Given the description of an element on the screen output the (x, y) to click on. 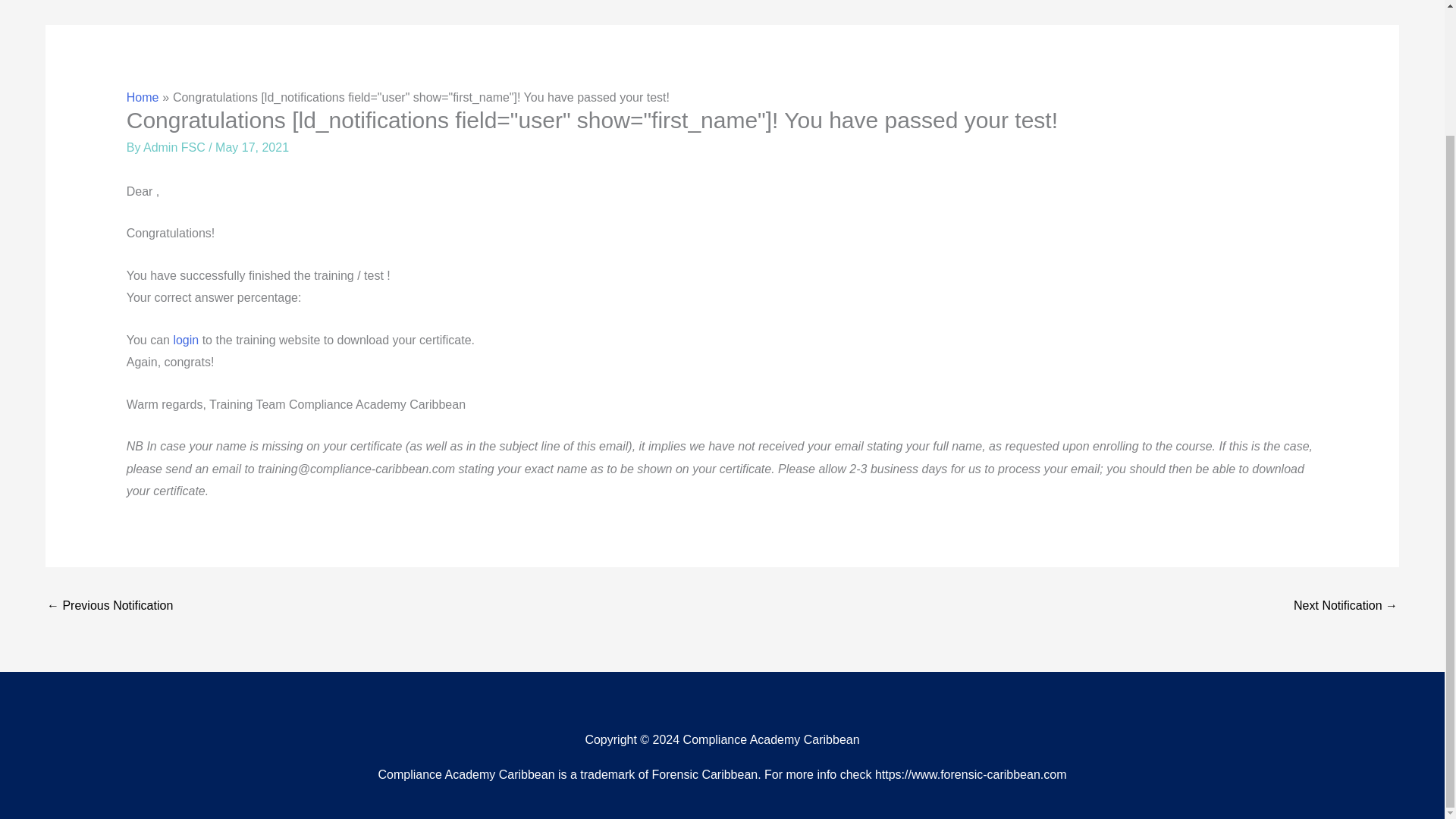
login (185, 339)
Home (142, 97)
Admin FSC (175, 146)
View all posts by Admin FSC (175, 146)
